Given the description of an element on the screen output the (x, y) to click on. 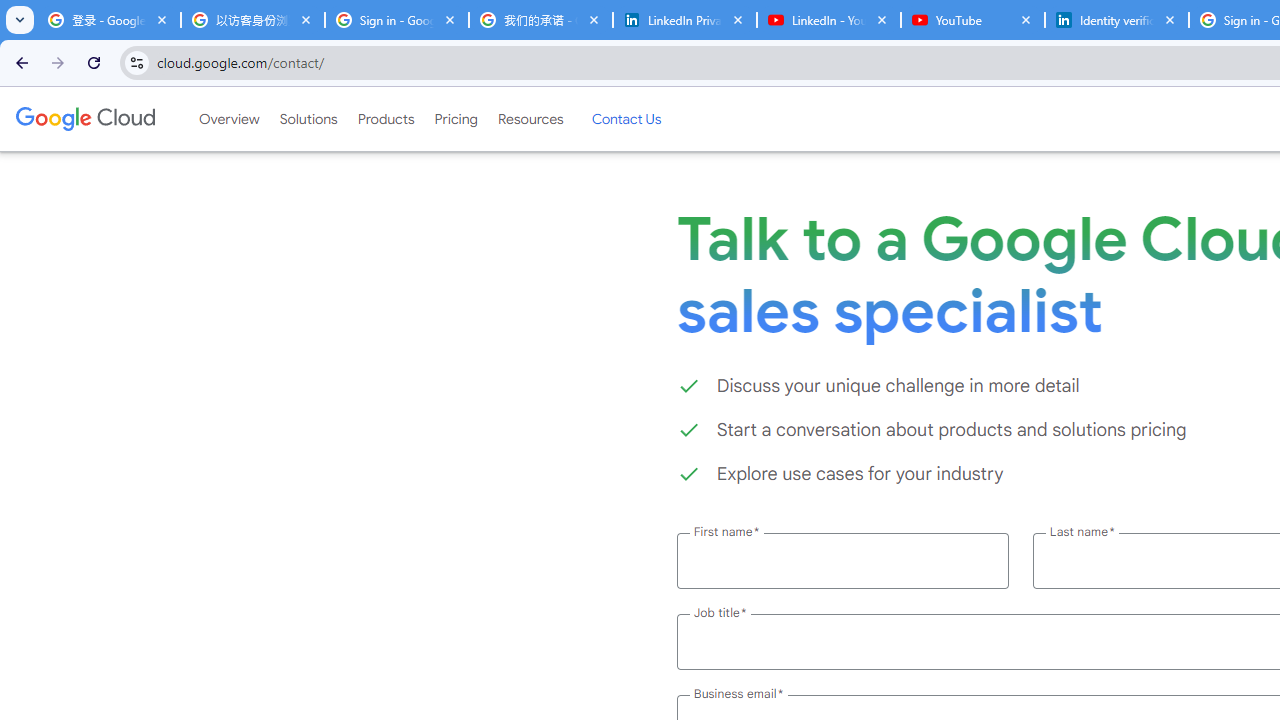
Sign in - Google Accounts (396, 20)
LinkedIn Privacy Policy (684, 20)
Products (385, 119)
Contact Us (626, 119)
Pricing (455, 119)
